Given the description of an element on the screen output the (x, y) to click on. 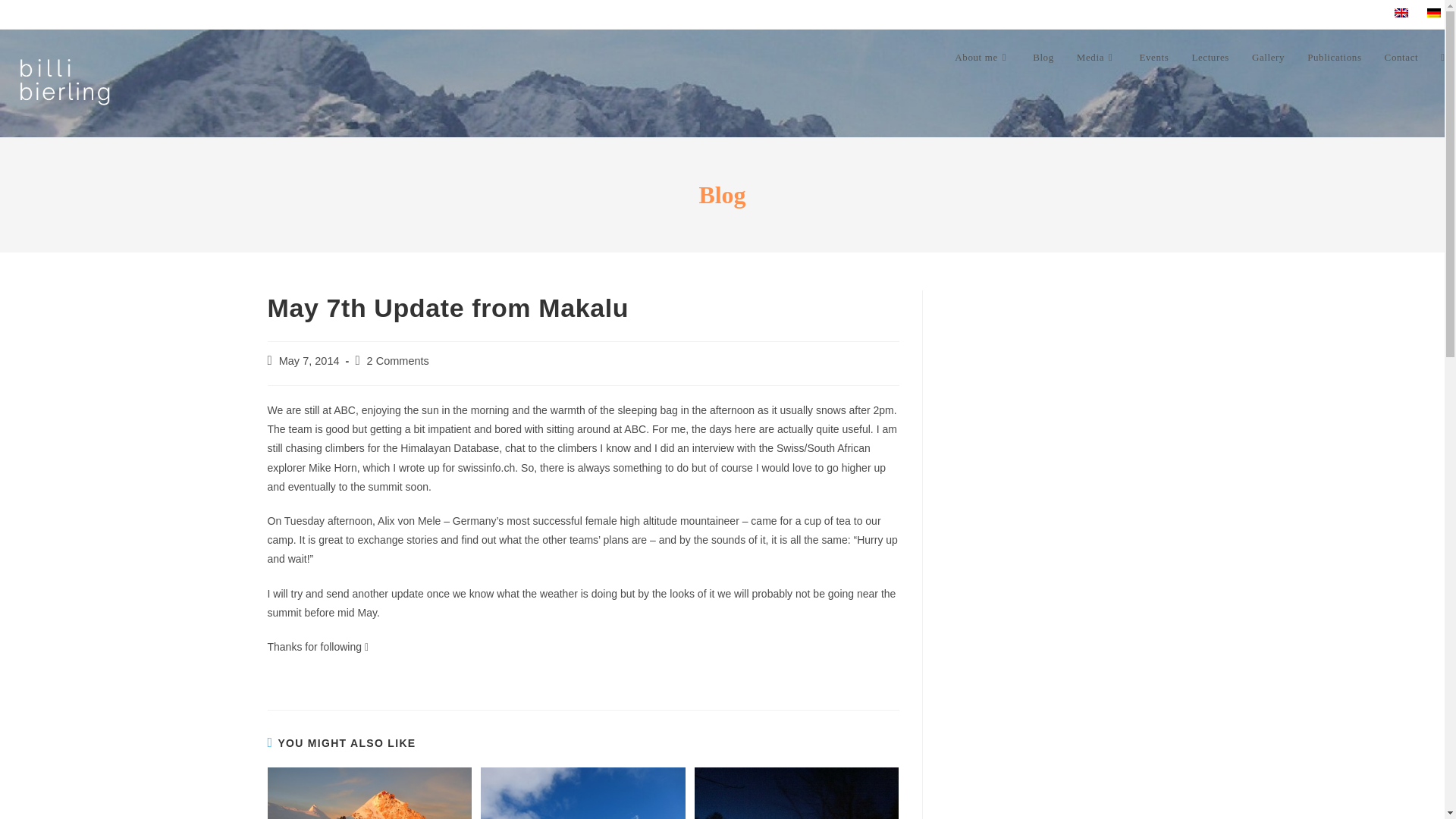
English (1400, 12)
Publications (1334, 57)
Media (1096, 57)
Contact (1401, 57)
About me (982, 57)
German (1433, 12)
Gallery (1267, 57)
Events (1152, 57)
Lectures (1209, 57)
